Given the description of an element on the screen output the (x, y) to click on. 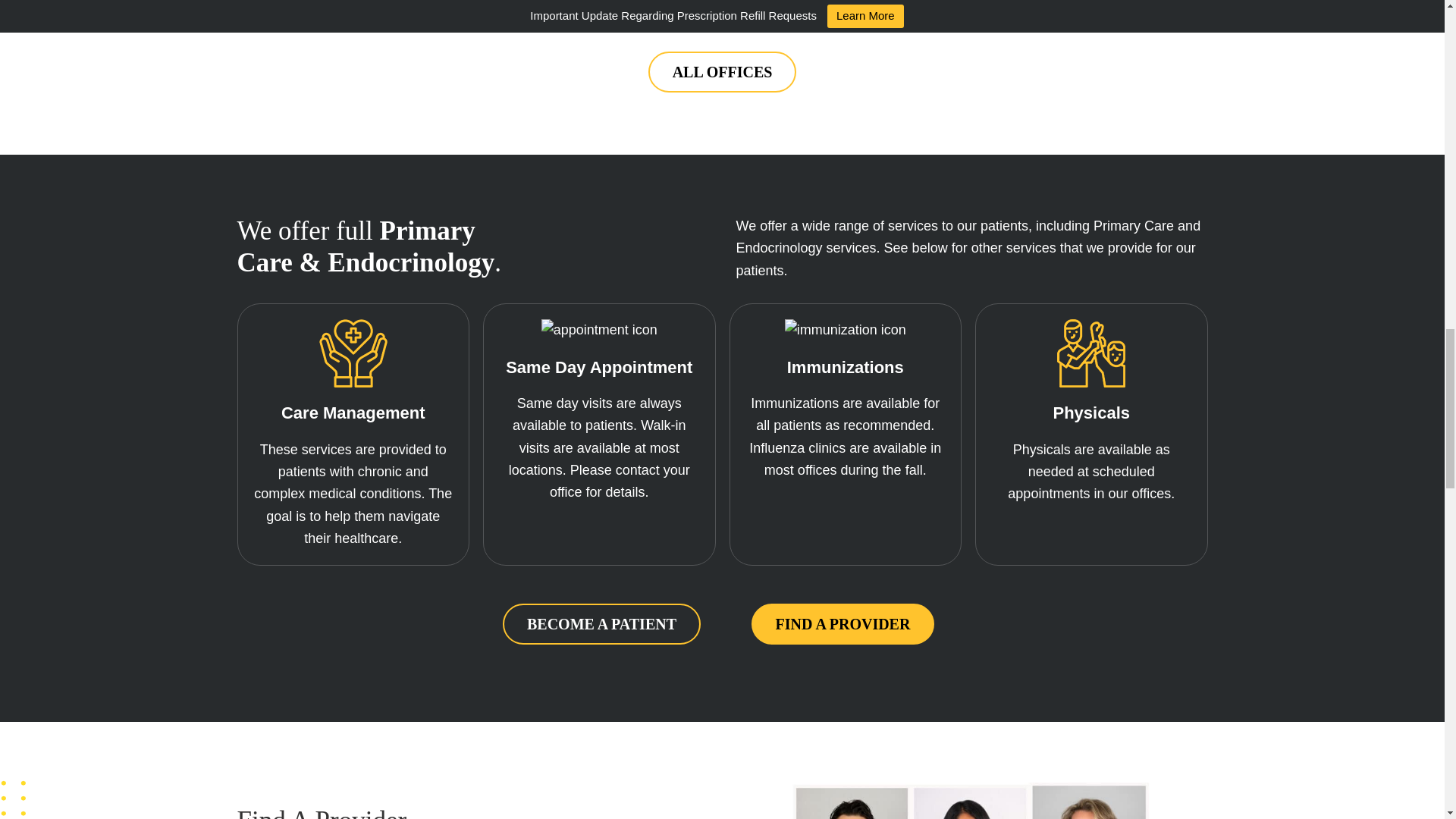
ALL OFFICES (721, 71)
FIND A PROVIDER (842, 623)
BECOME A PATIENT (601, 623)
